Given the description of an element on the screen output the (x, y) to click on. 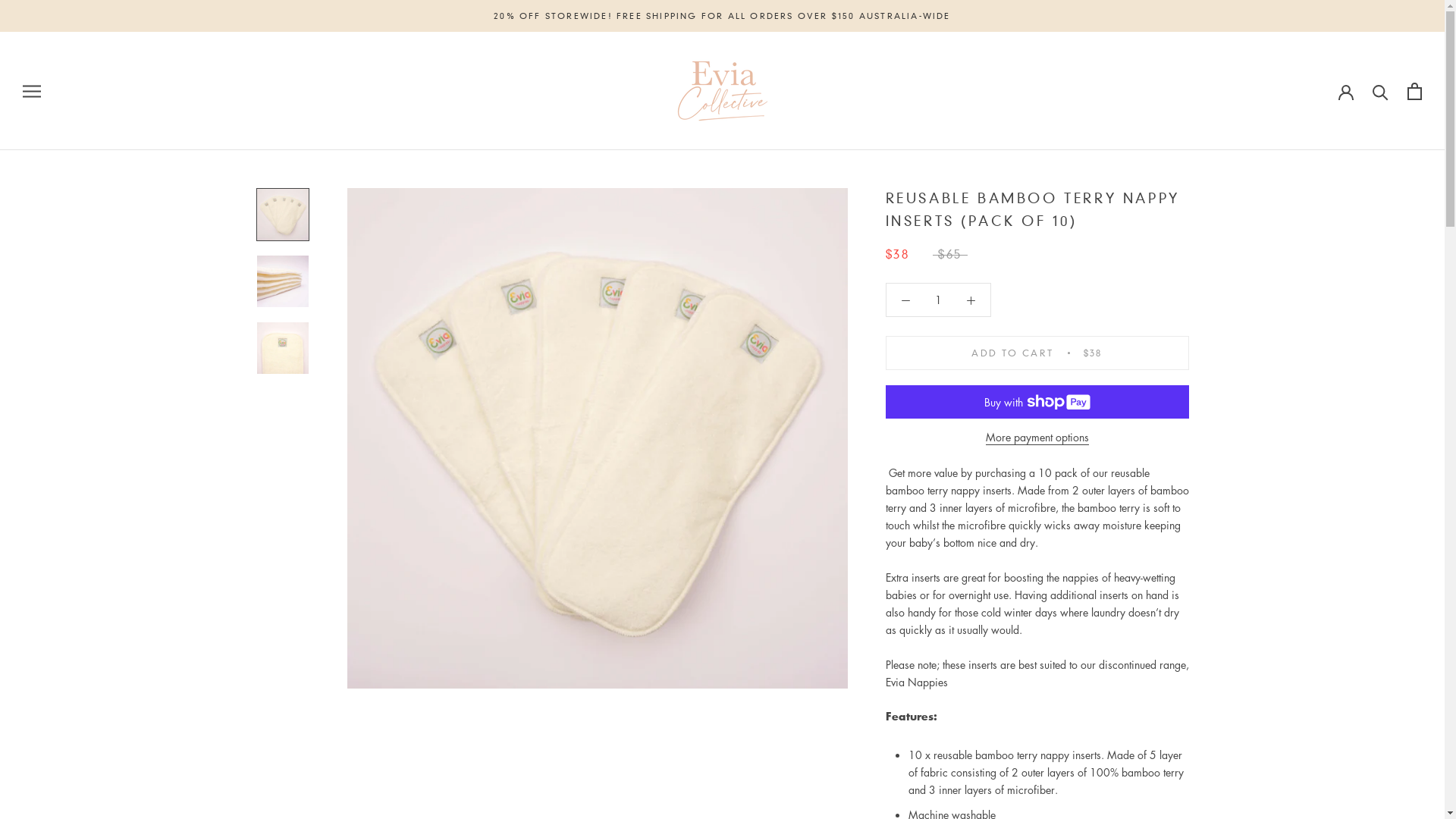
ADD TO CART
$38 Element type: text (1037, 352)
More payment options Element type: text (1036, 436)
